Given the description of an element on the screen output the (x, y) to click on. 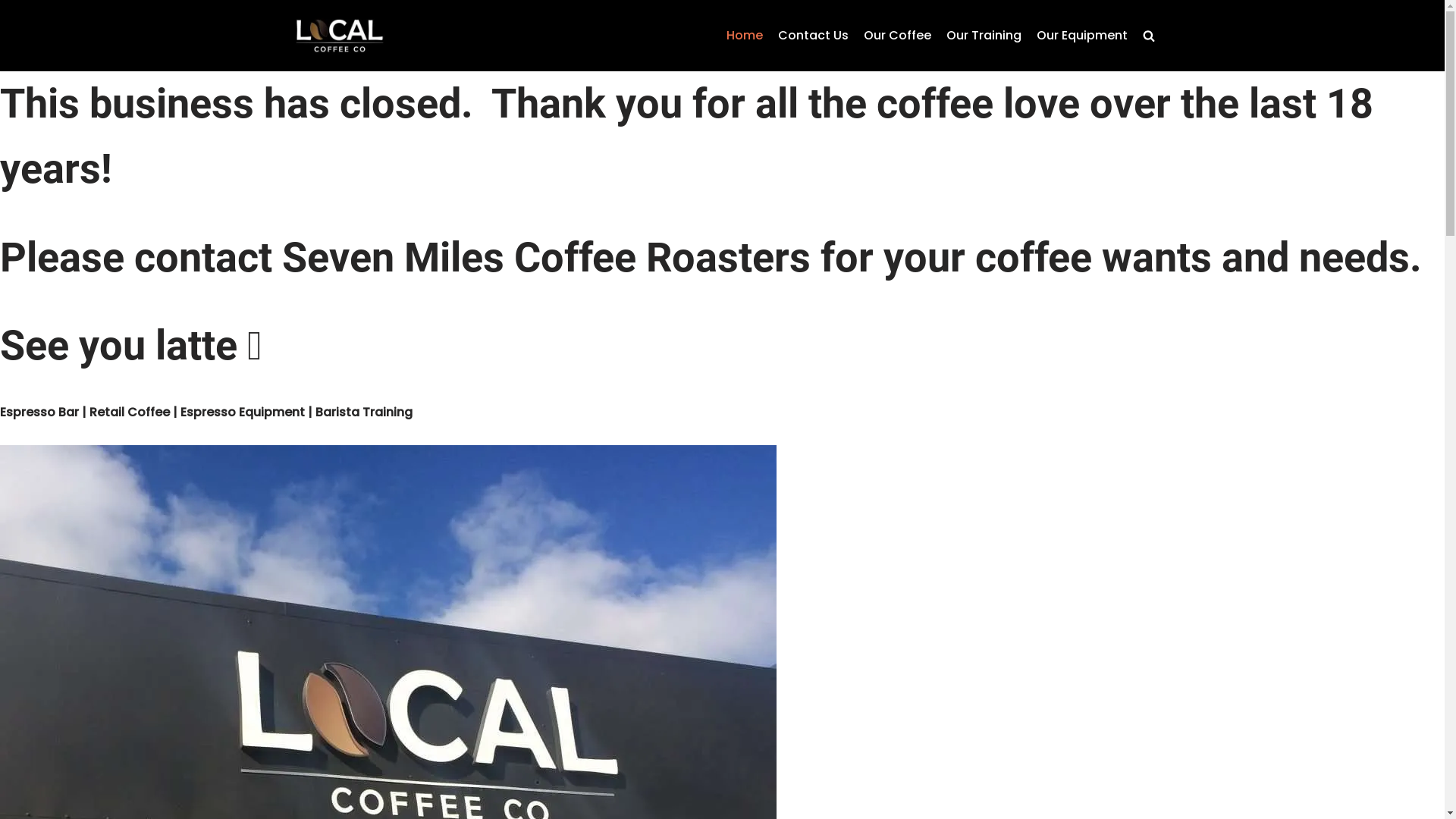
Local Coffee Co Element type: hover (338, 35)
Our Equipment Element type: text (1080, 35)
Contact Us Element type: text (813, 35)
Our Training Element type: text (983, 35)
Our Coffee Element type: text (896, 35)
Skip to content Element type: text (11, 31)
Home Element type: text (744, 35)
